Given the description of an element on the screen output the (x, y) to click on. 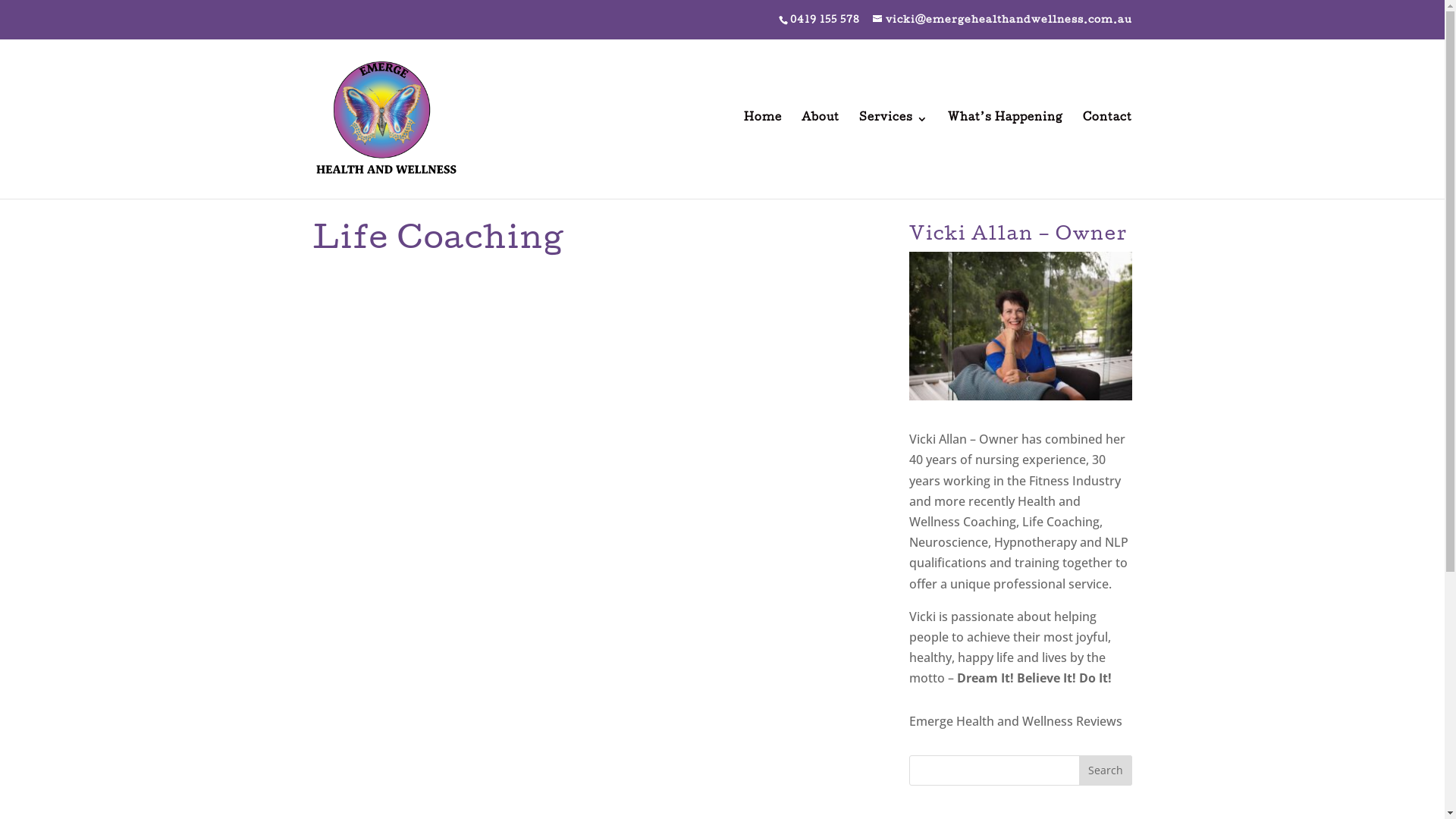
vicki@emergehealthandwellness.com.au Element type: text (1001, 20)
Home Element type: text (762, 152)
Contact Element type: text (1107, 152)
About Element type: text (819, 152)
Emerge Health and Wellness Reviews Element type: text (1019, 721)
Services Element type: text (892, 152)
Search Element type: text (1104, 770)
